Given the description of an element on the screen output the (x, y) to click on. 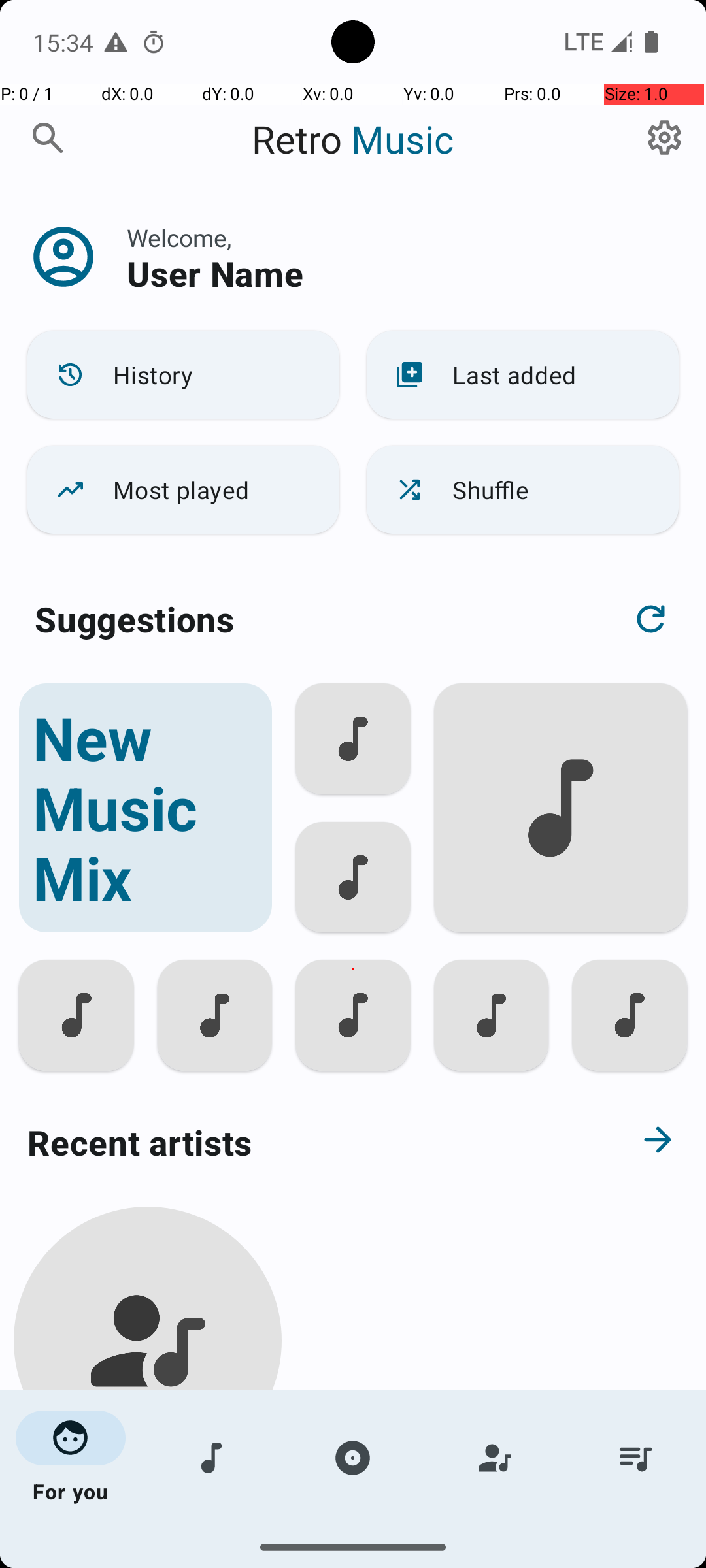
Retro Music Element type: android.widget.TextView (352, 138)
For you Element type: android.widget.FrameLayout (70, 1457)
Songs Element type: android.widget.FrameLayout (211, 1457)
Albums Element type: android.widget.FrameLayout (352, 1457)
Artists Element type: android.widget.FrameLayout (493, 1457)
Welcome, Element type: android.widget.TextView (179, 237)
User Name Element type: android.widget.TextView (214, 273)
Last added Element type: android.widget.Button (522, 374)
Most played Element type: android.widget.Button (183, 489)
Suggestions Element type: android.widget.TextView (134, 618)
New Music Mix Element type: android.widget.TextView (144, 807)
Recent artists Element type: android.widget.TextView (304, 1141)
Recent albums Element type: android.widget.TextView (304, 1557)
Hugo Element type: android.widget.TextView (147, 1503)
